Given the description of an element on the screen output the (x, y) to click on. 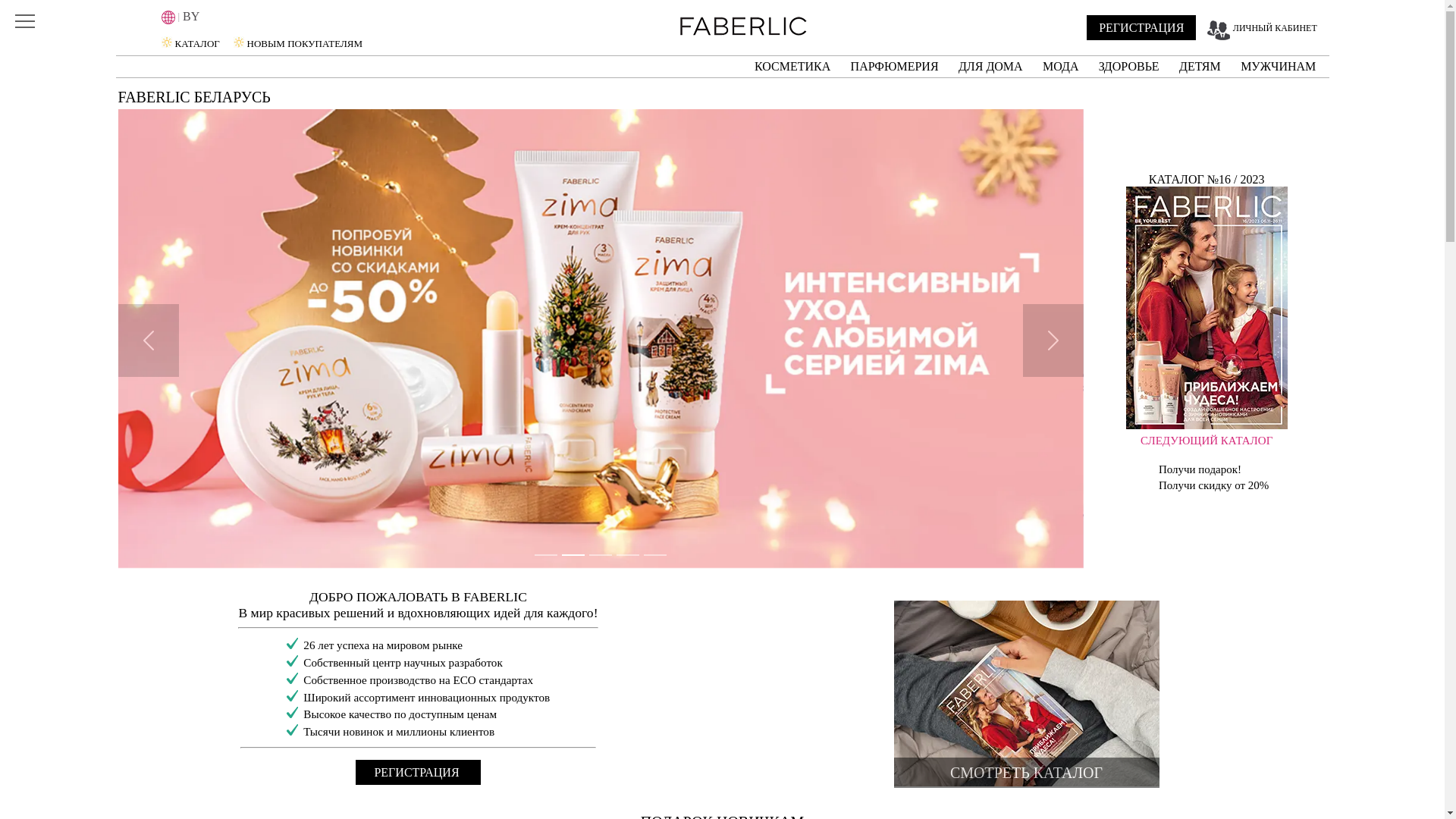
| BY    Element type: text (228, 16)
